Given the description of an element on the screen output the (x, y) to click on. 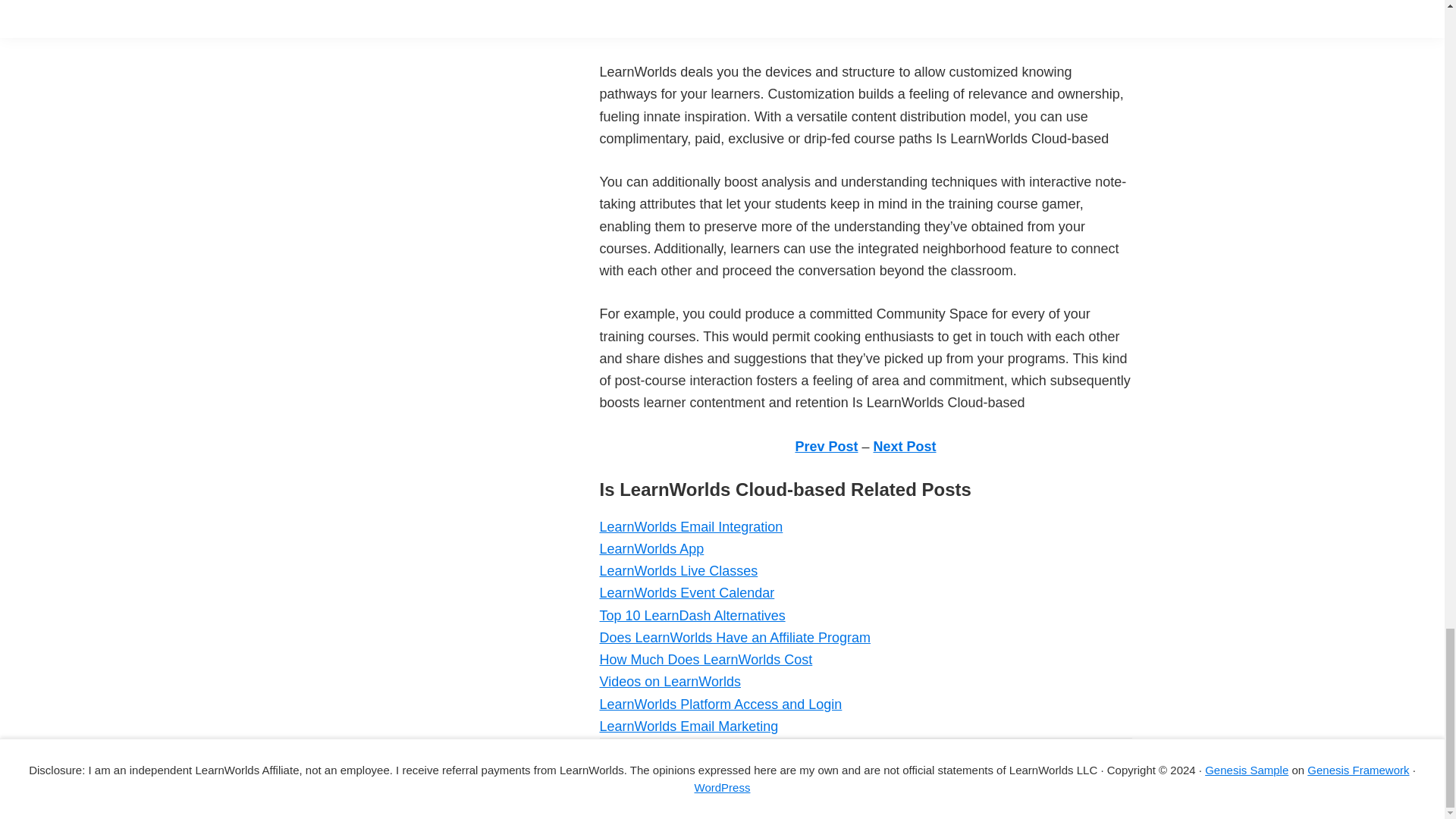
LearnWorlds Email Integration (690, 526)
Prev Post (825, 446)
LearnWorlds App (650, 548)
Next Post (904, 446)
LearnWorlds App (650, 548)
LearnWorlds Email Marketing (687, 726)
How Much Does LearnWorlds Cost (705, 659)
LearnWorlds Email Marketing (687, 726)
Videos on LearnWorlds (668, 681)
LearnWorlds Email Integration (690, 526)
